Given the description of an element on the screen output the (x, y) to click on. 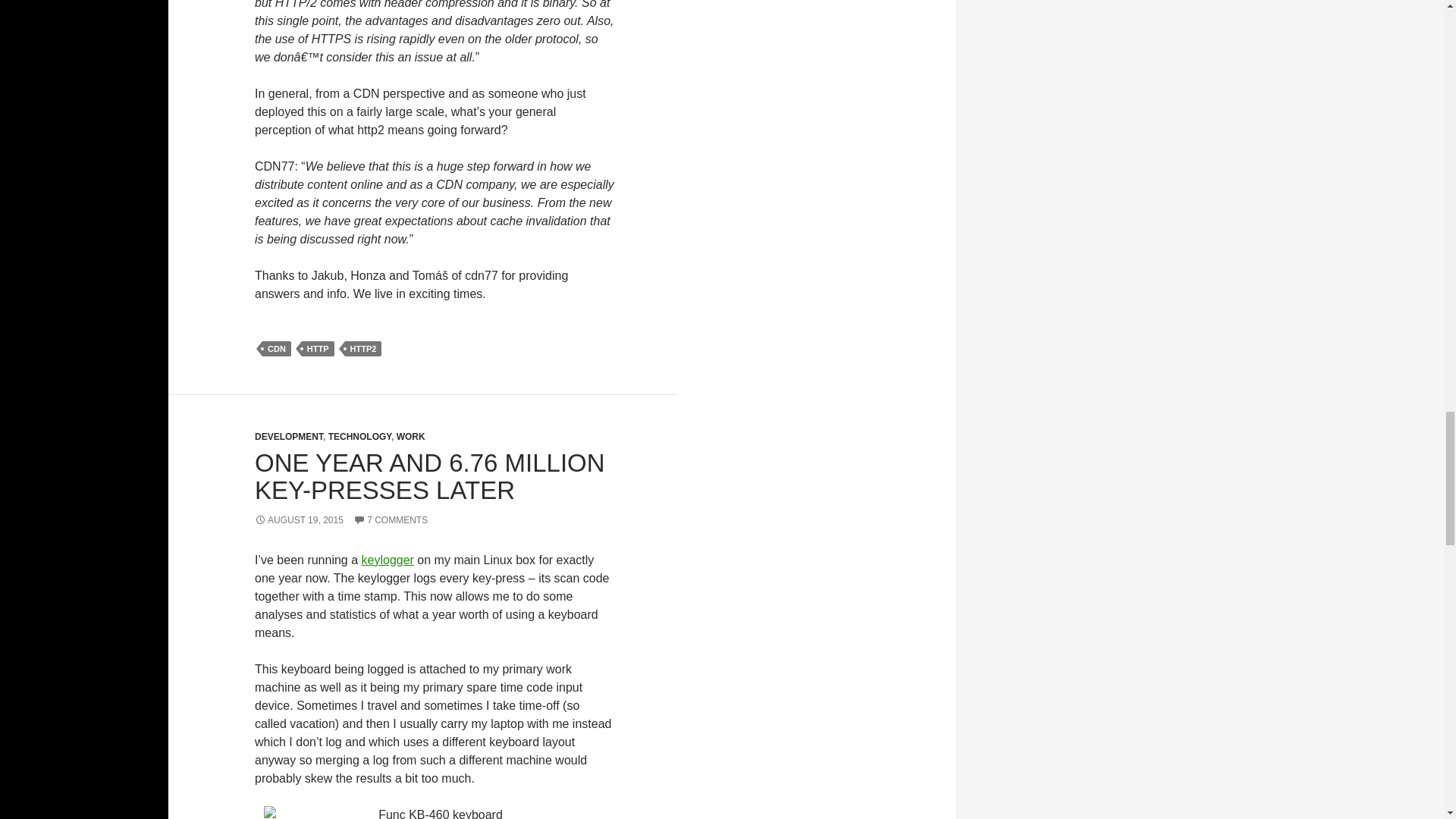
ONE YEAR AND 6.76 MILLION KEY-PRESSES LATER (429, 476)
WORK (410, 436)
Func KB-460 keyboard (434, 812)
7 COMMENTS (390, 520)
AUGUST 19, 2015 (298, 520)
keylogger (387, 559)
CDN (276, 348)
TECHNOLOGY (360, 436)
HTTP2 (363, 348)
DEVELOPMENT (288, 436)
